Given the description of an element on the screen output the (x, y) to click on. 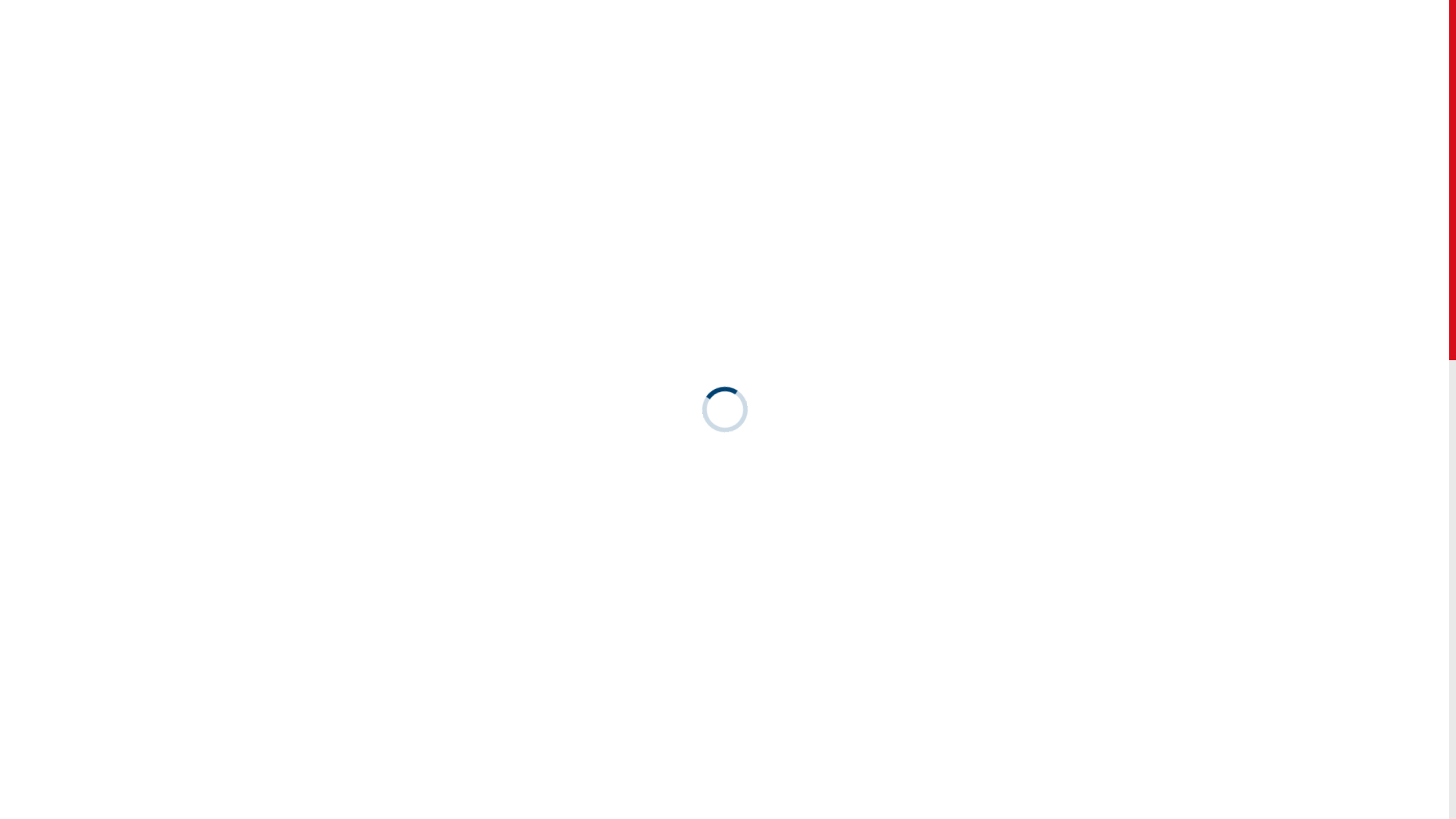
+375 (17) 375-66-02 Element type: text (562, 50)
+375 (25) 968-68-68 Element type: text (563, 34)
